Given the description of an element on the screen output the (x, y) to click on. 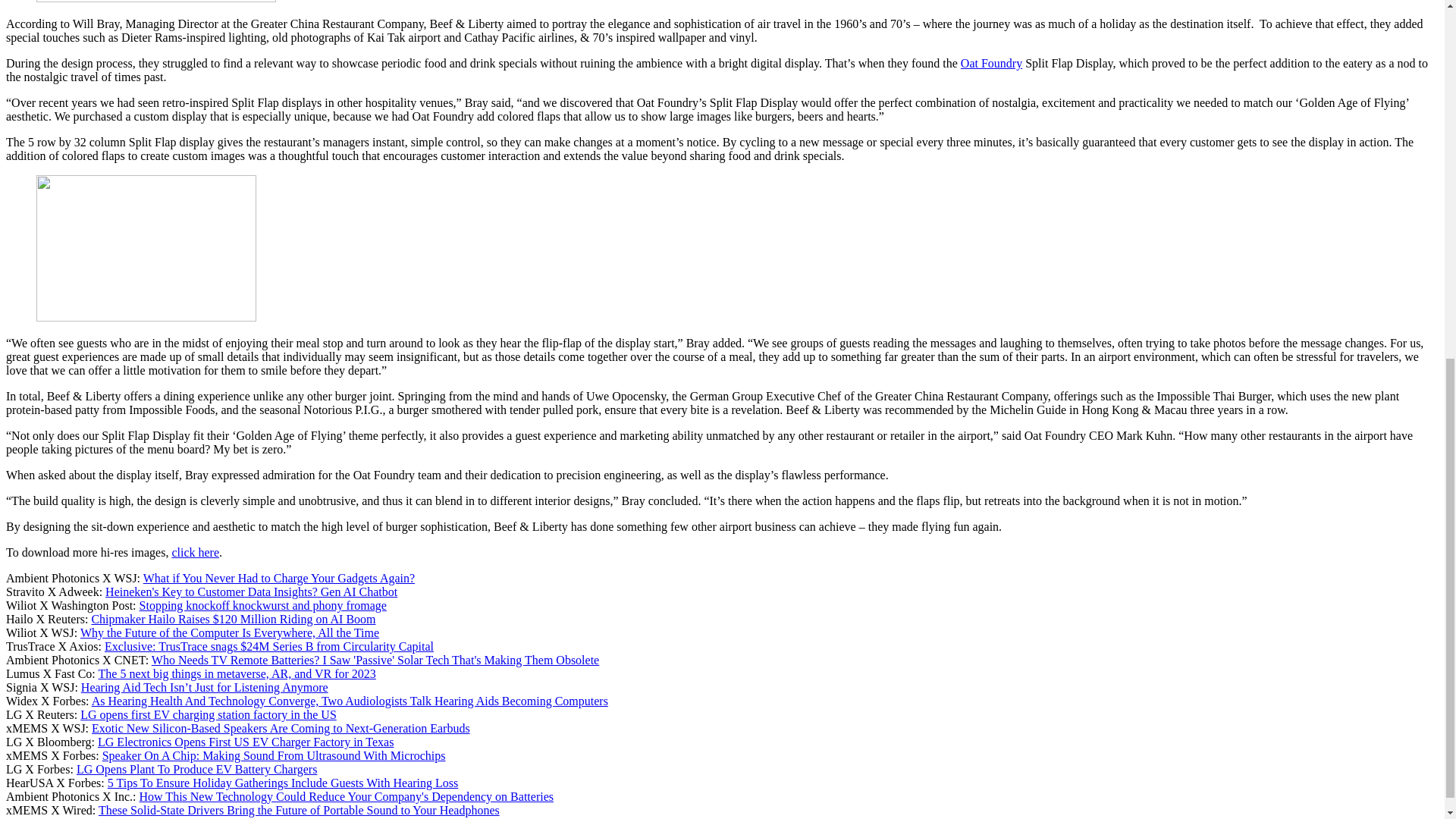
Why the Future of the Computer Is Everywhere, All the Time (229, 632)
Stopping knockoff knockwurst and phony fromage (263, 604)
LG Electronics Opens First US EV Charger Factory in Texas (245, 741)
The 5 next big things in metaverse, AR, and VR for 2023 (237, 673)
click here (195, 552)
What if You Never Had to Charge Your Gadgets Again? (278, 577)
LG Opens Plant To Produce EV Battery Chargers (197, 768)
Heineken's Key to Customer Data Insights? Gen AI Chatbot (250, 591)
LG opens first EV charging station factory in the US (208, 714)
Oat Foundry (991, 62)
